Given the description of an element on the screen output the (x, y) to click on. 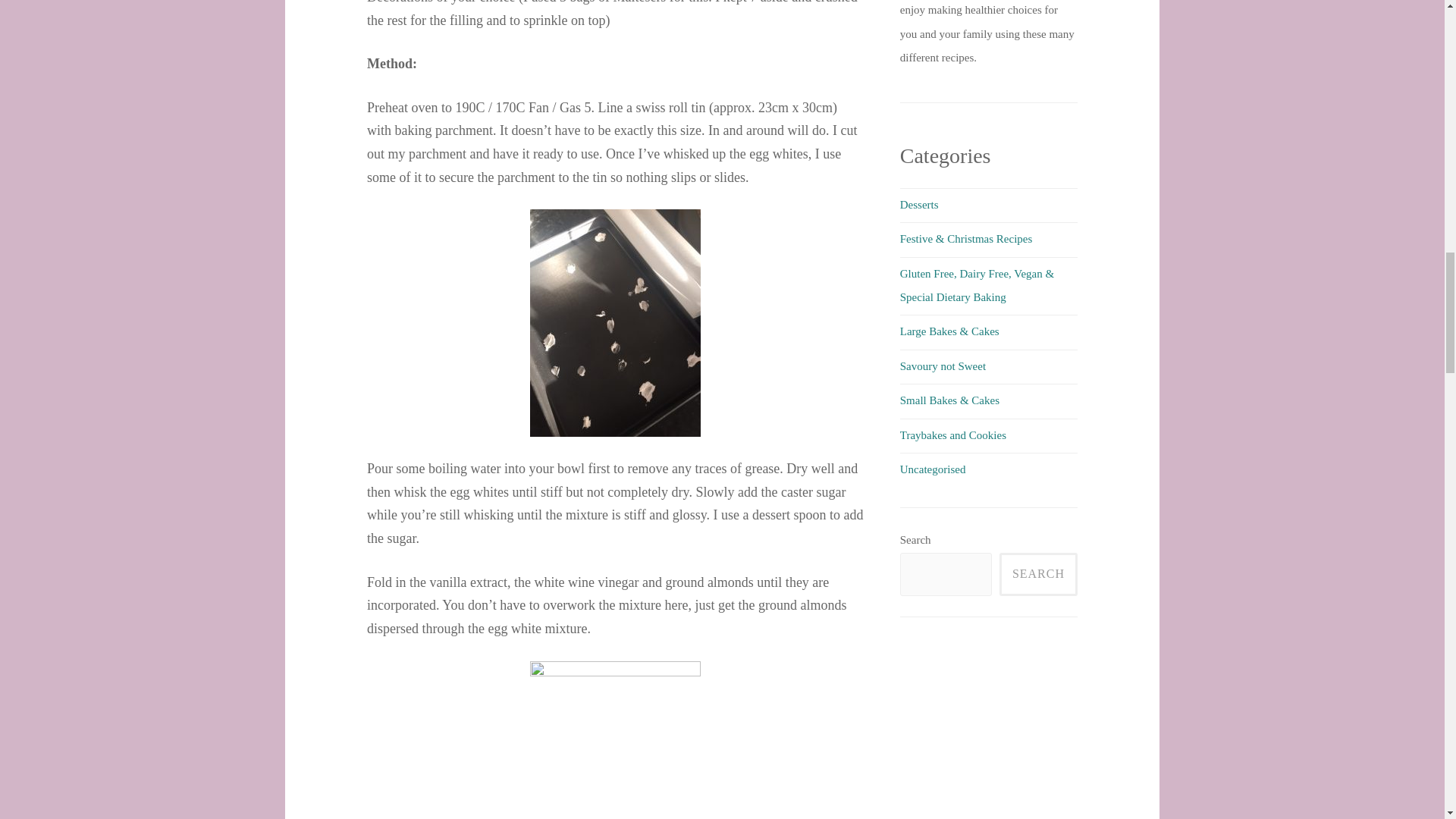
Savoury not Sweet (942, 366)
SEARCH (1037, 574)
Traybakes and Cookies (952, 435)
Desserts (919, 204)
Uncategorised (932, 469)
